Given the description of an element on the screen output the (x, y) to click on. 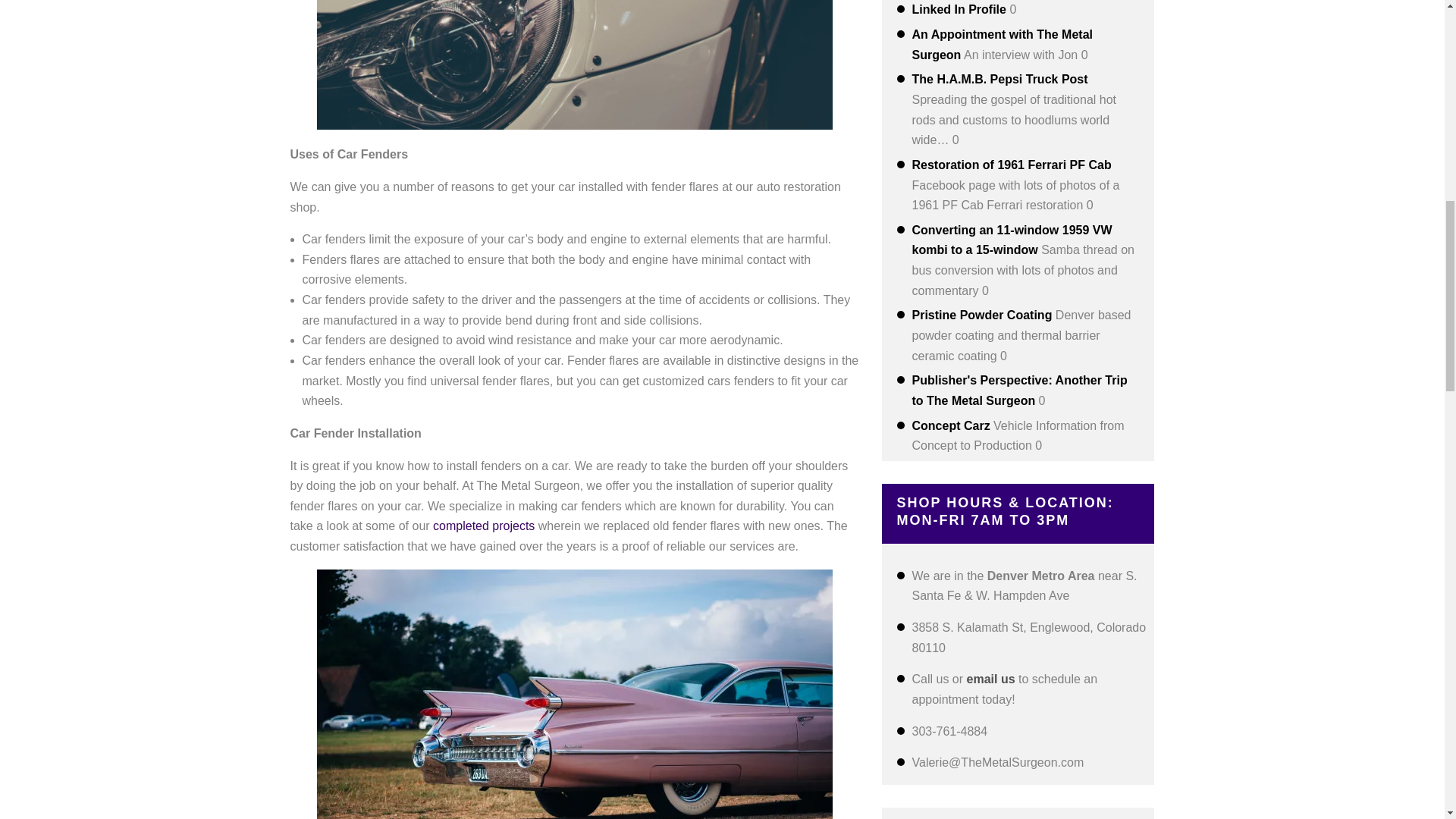
An interview with Jon (1002, 44)
Linked In Profile (958, 9)
completed projects (483, 525)
Vehicle Information from Concept to Production (950, 425)
An Appointment with The Metal Surgeon (1002, 44)
